Given the description of an element on the screen output the (x, y) to click on. 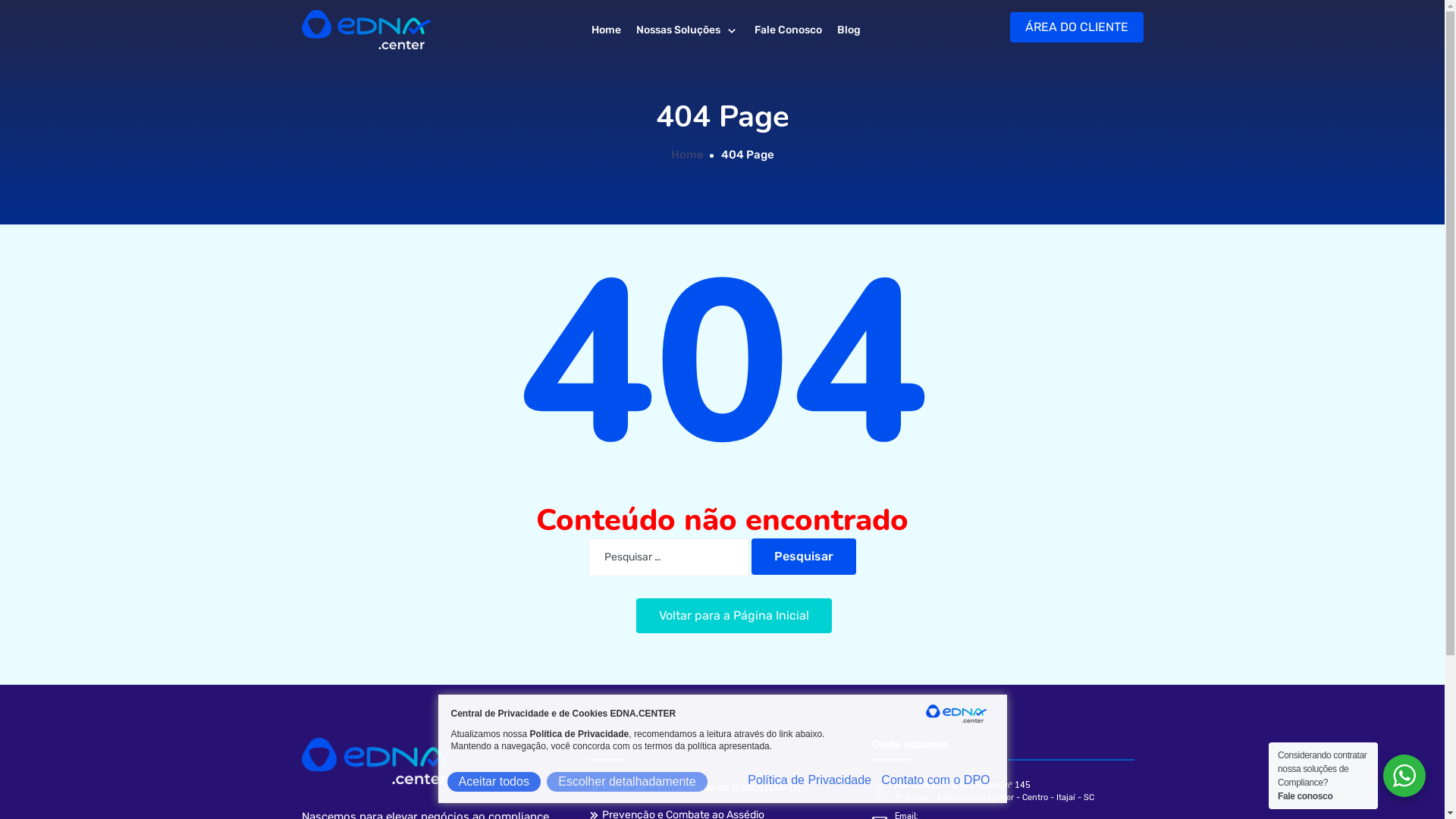
Contato com o DPO Element type: text (935, 780)
Home Element type: text (606, 29)
Aceitar todos Element type: text (493, 781)
Pesquisar Element type: text (803, 556)
Escolher detalhadamente Element type: text (626, 781)
Blog Element type: text (848, 29)
Fale Conosco Element type: text (788, 29)
Home Element type: text (686, 154)
